Given the description of an element on the screen output the (x, y) to click on. 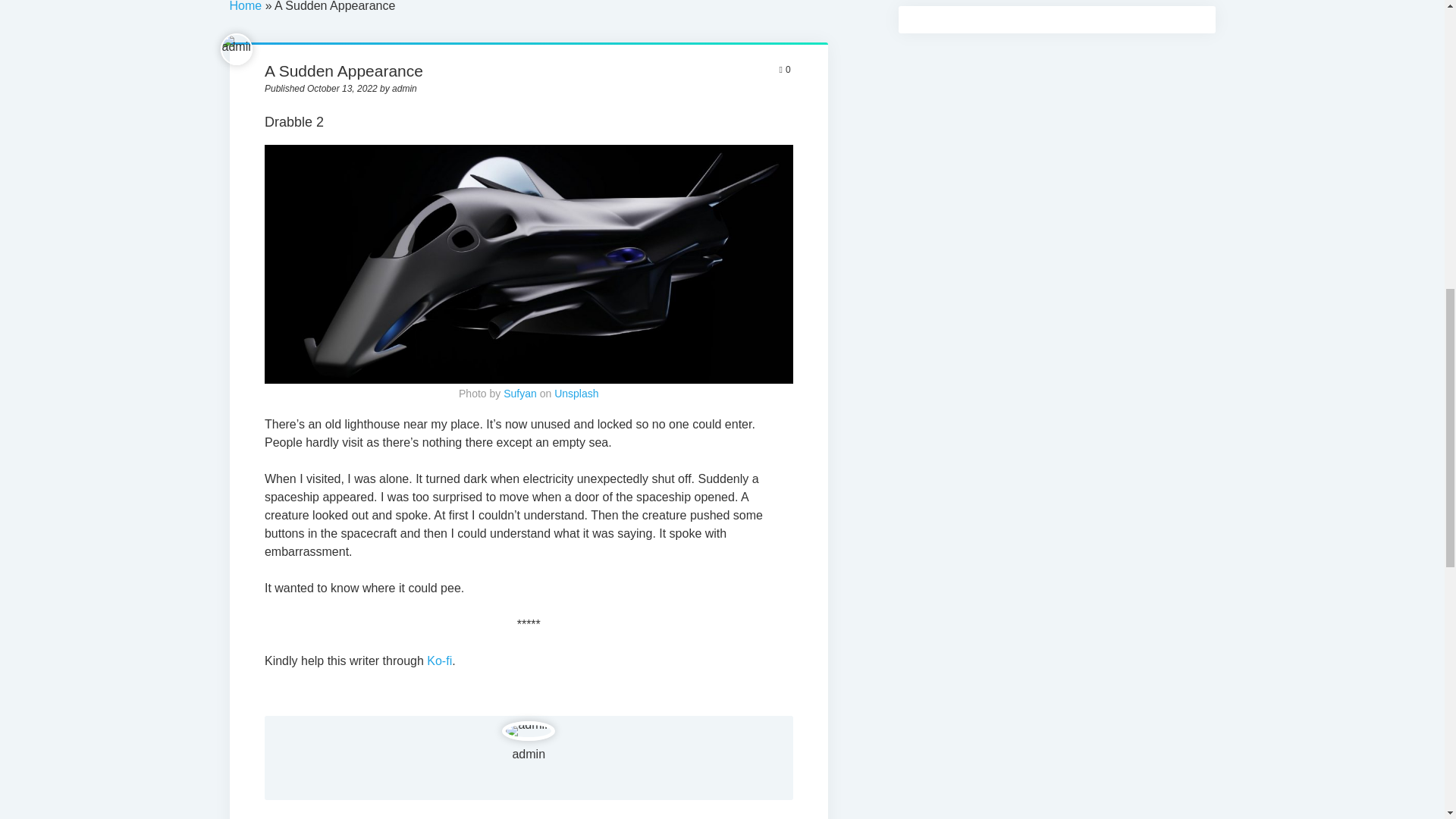
Sufyan (520, 393)
Unsplash (576, 393)
Home (245, 5)
Ko-fi (438, 660)
admin (528, 753)
